Given the description of an element on the screen output the (x, y) to click on. 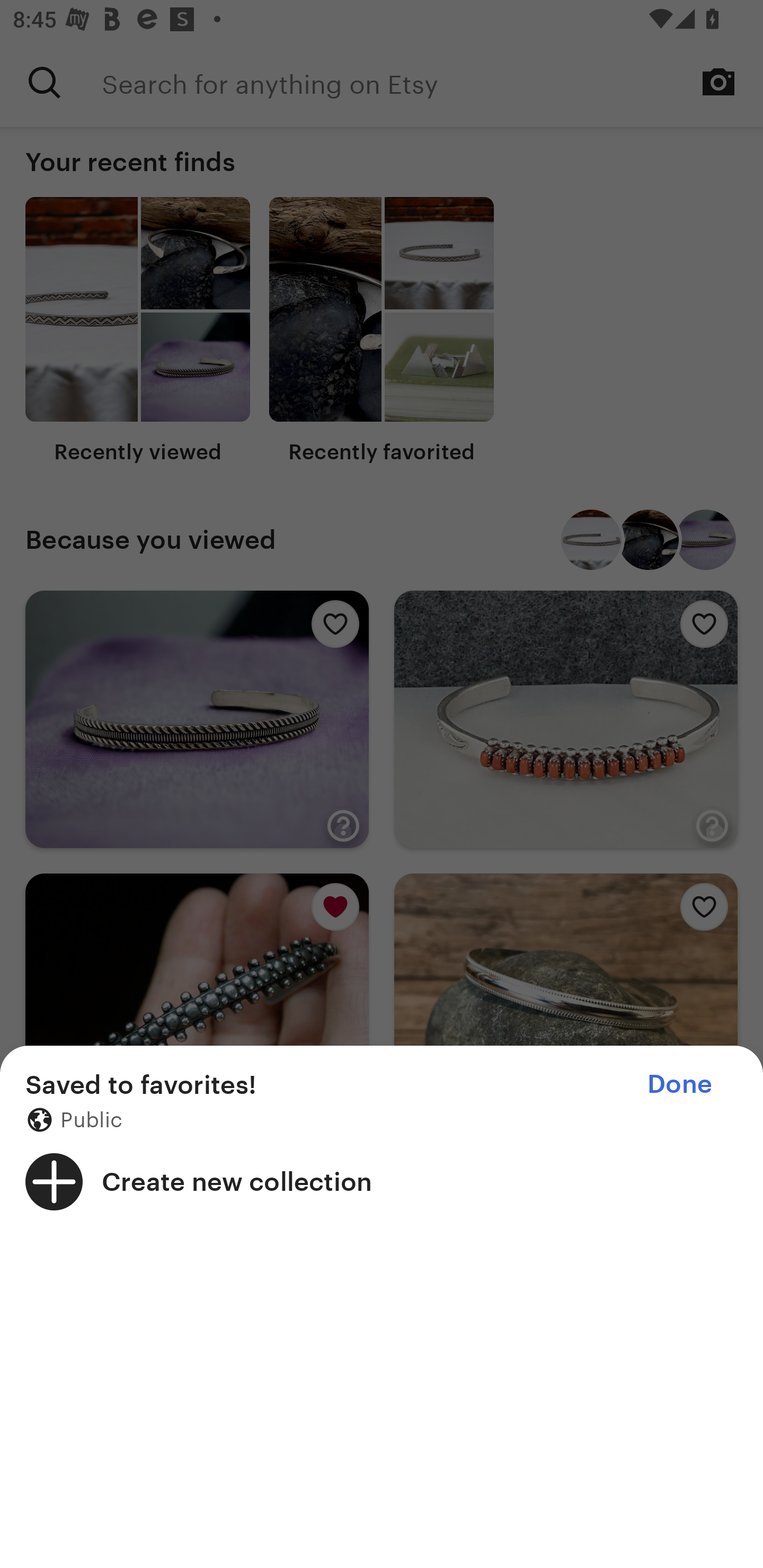
Done (679, 1083)
Create new collection (381, 1181)
